Given the description of an element on the screen output the (x, y) to click on. 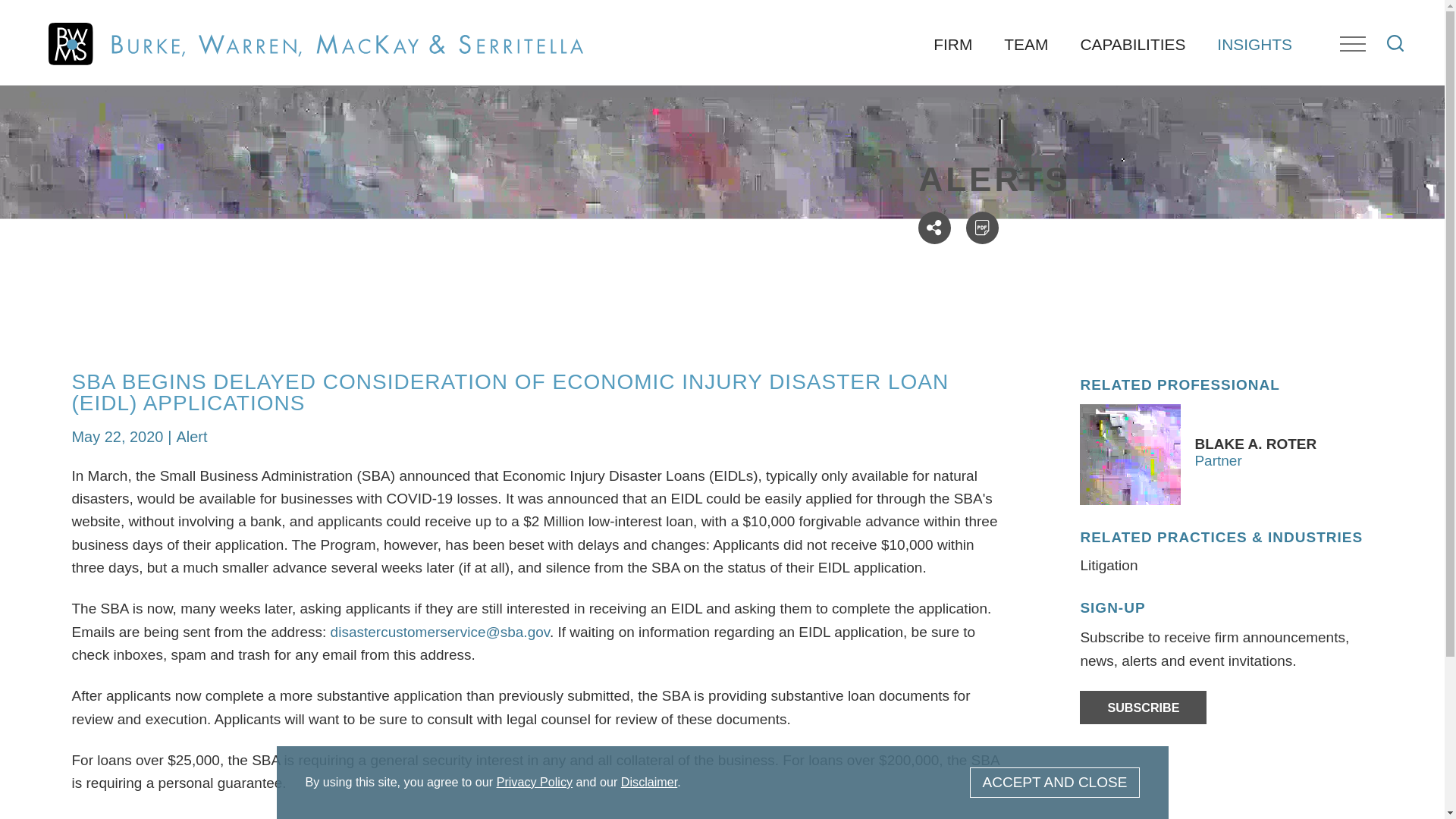
Search (1395, 43)
PDF (982, 227)
TEAM (1026, 44)
Menu (1352, 43)
INSIGHTS (1254, 44)
Main Menu (674, 19)
Menu (674, 19)
FIRM (952, 44)
CAPABILITIES (1132, 44)
Share (934, 227)
Main Content (667, 19)
